Given the description of an element on the screen output the (x, y) to click on. 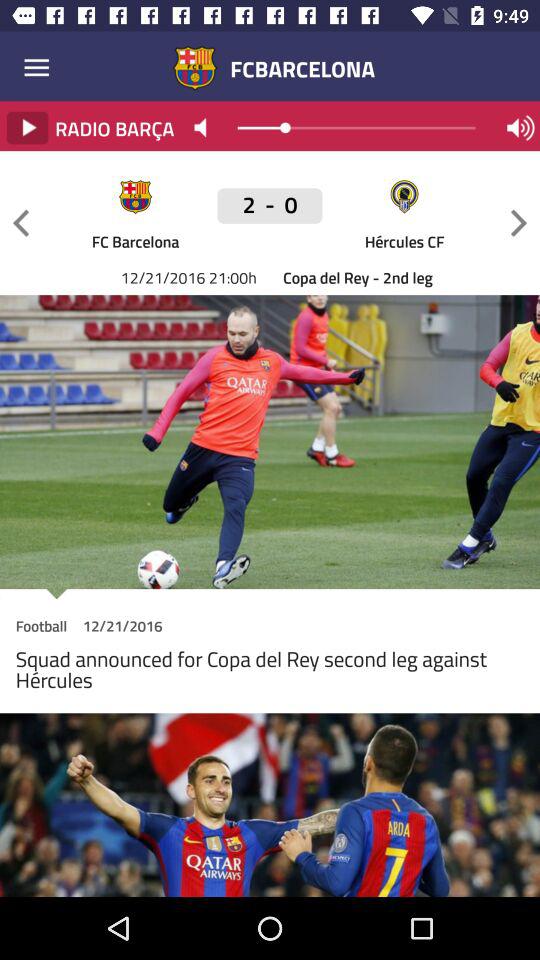
tap icon above football (270, 593)
